Given the description of an element on the screen output the (x, y) to click on. 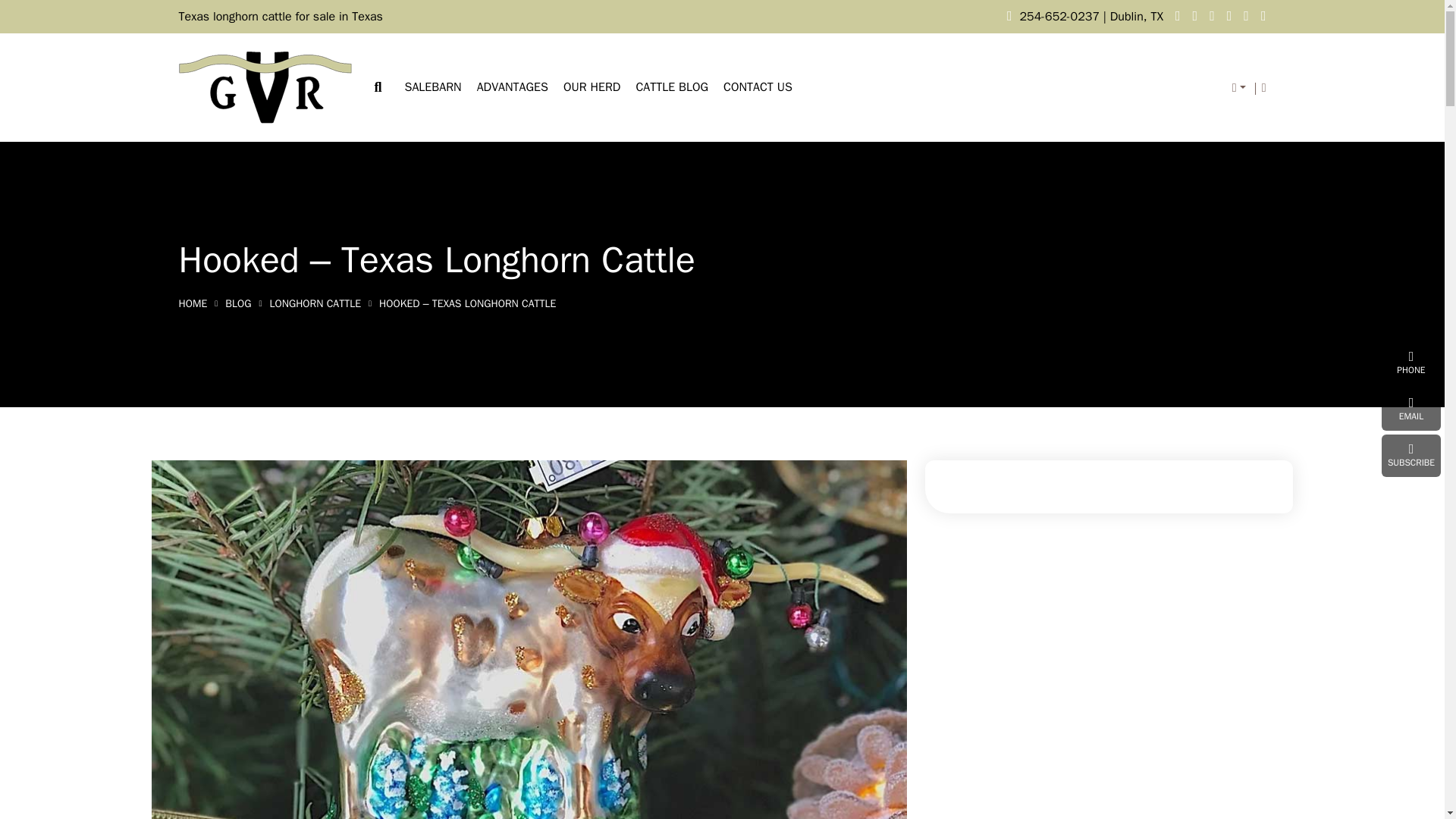
ADVANTAGES (512, 87)
SALEBARN (432, 87)
CONTACT US (757, 87)
EMAIL (1411, 409)
PHONE (1411, 363)
OUR HERD (591, 87)
GVR Longhorns LLC (265, 87)
CATTLE BLOG (670, 87)
SUBSCRIBE (1411, 455)
